Given the description of an element on the screen output the (x, y) to click on. 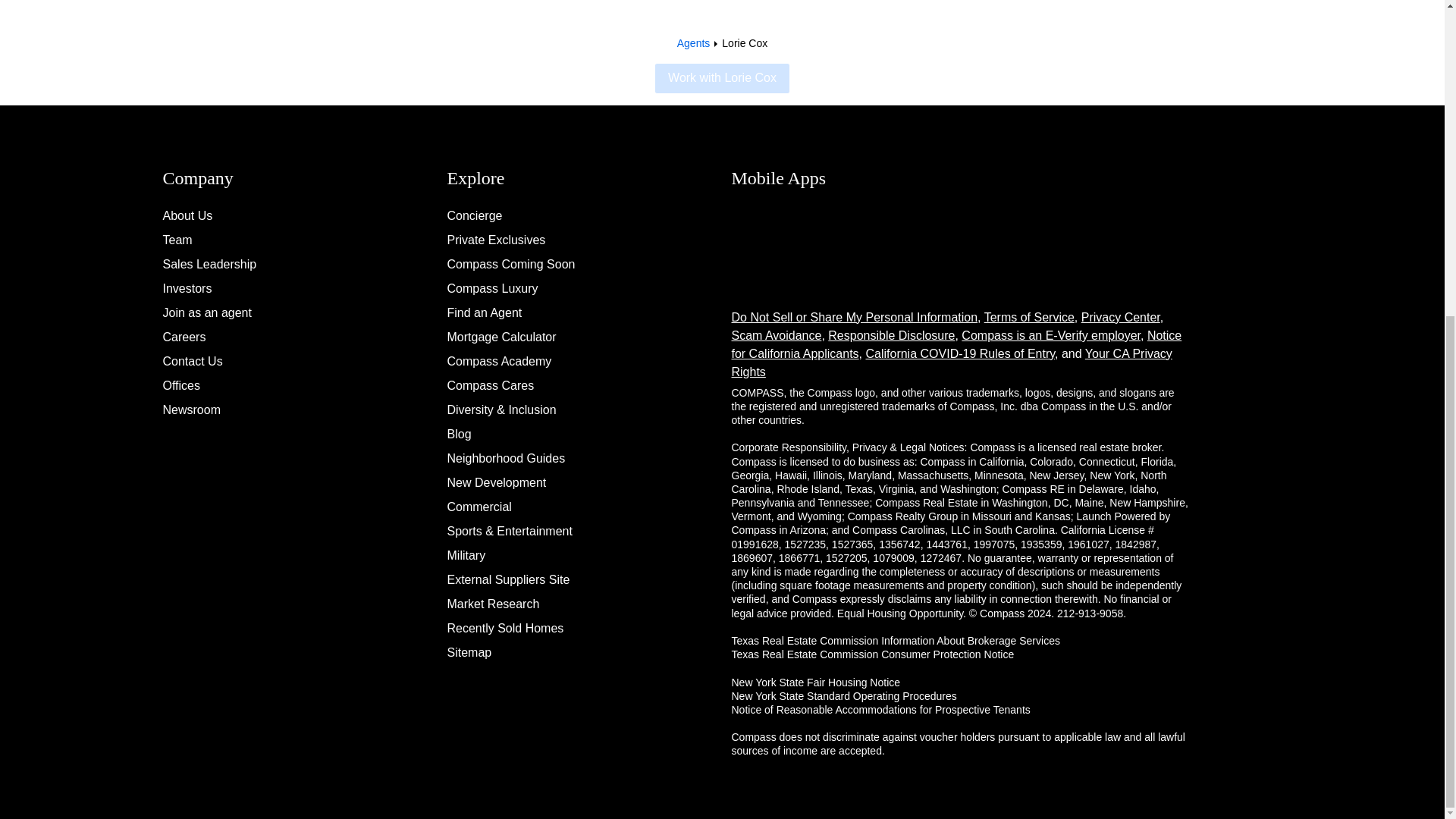
Offices (180, 385)
Team (176, 239)
Agents (693, 42)
Sales Leadership (208, 264)
Join as an agent (205, 312)
Newsroom (190, 409)
Contact Us (191, 360)
Careers (183, 336)
About Us (186, 215)
Private Exclusives (496, 239)
